Given the description of an element on the screen output the (x, y) to click on. 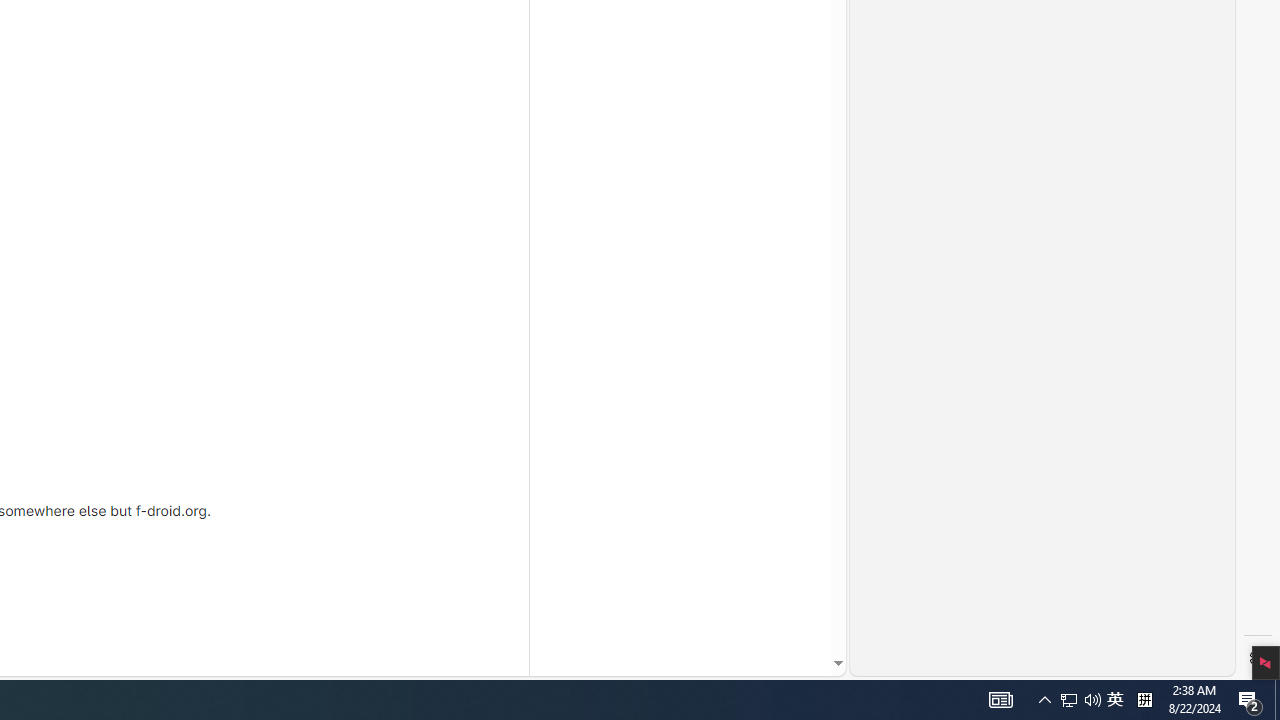
Q2790: 100% (1115, 699)
Notification Chevron (1092, 699)
Action Center, 2 new notifications (1044, 699)
Show desktop (1250, 699)
AutomationID: 4105 (1277, 699)
Settings (1000, 699)
User Promoted Notification Area (1069, 699)
Tray Input Indicator - Chinese (Simplified, China) (1258, 658)
